Given the description of an element on the screen output the (x, y) to click on. 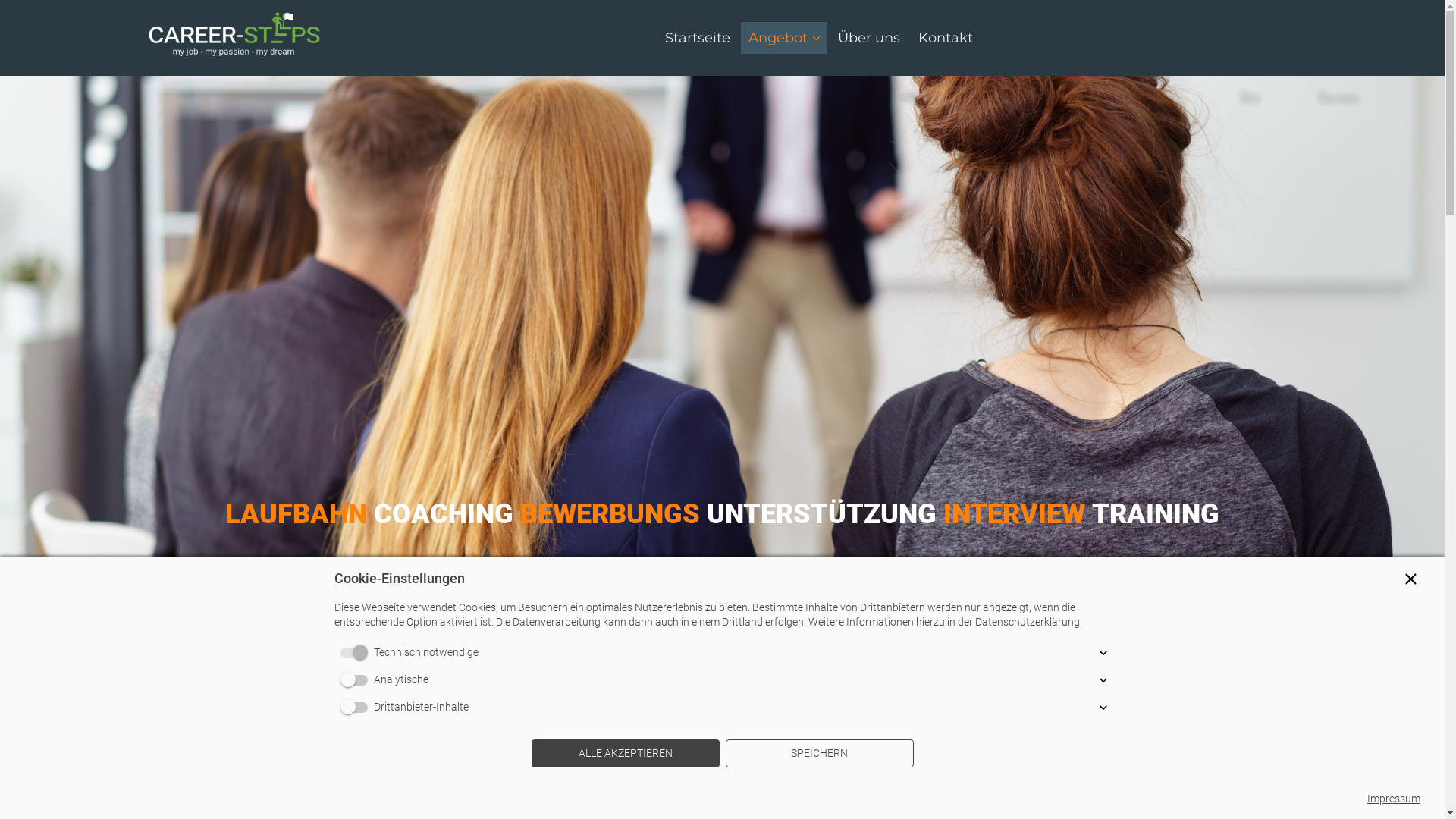
Kontakt Element type: text (944, 37)
ALLE AKZEPTIEREN Element type: text (624, 753)
Impressum Element type: text (1393, 798)
Angebot Element type: text (783, 37)
  Element type: text (234, 36)
Startseite Element type: text (696, 37)
SPEICHERN Element type: text (818, 753)
